Given the description of an element on the screen output the (x, y) to click on. 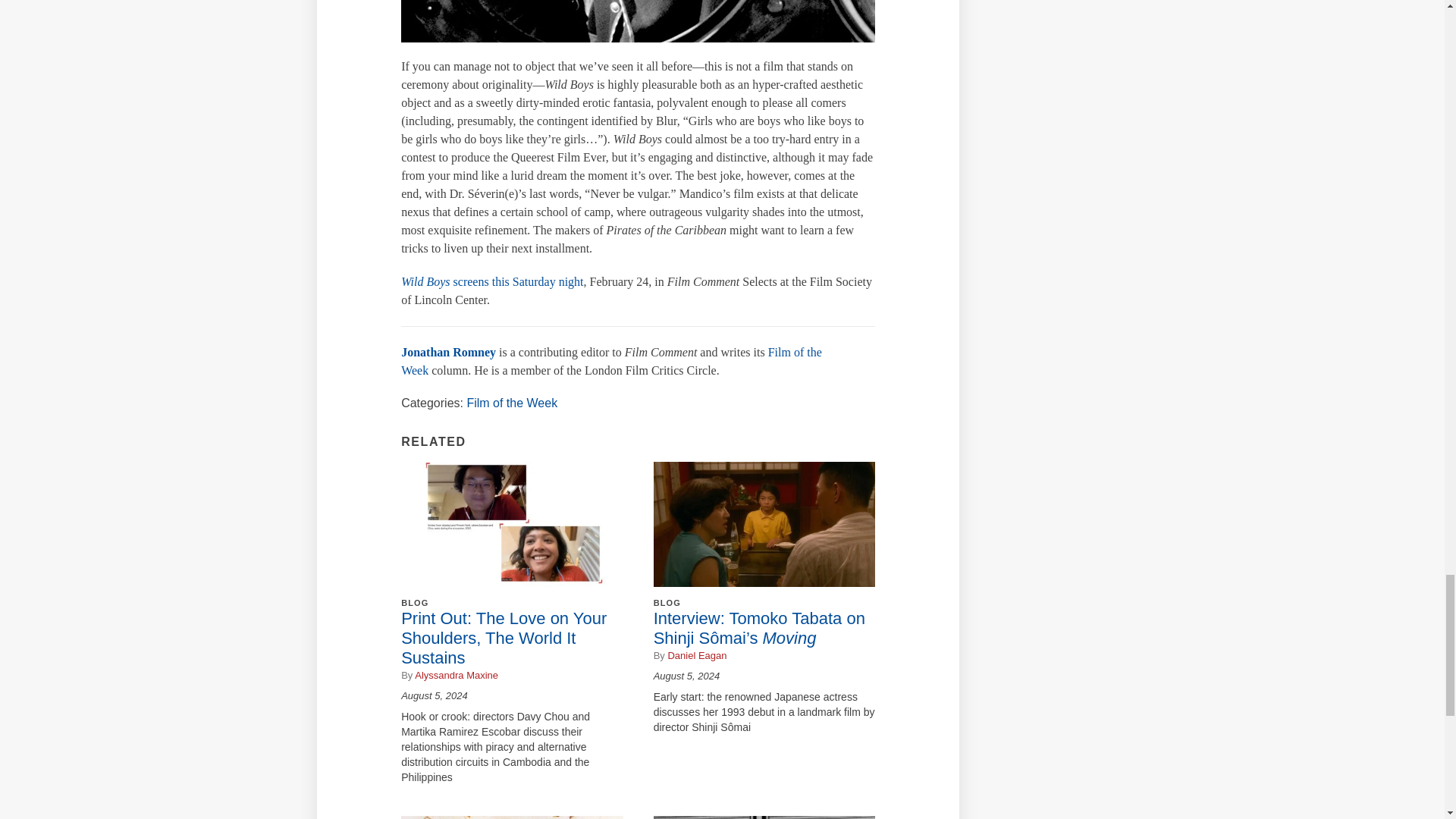
Jonathan Romney (448, 351)
Wild Boys screens this Saturday night (492, 281)
